Given the description of an element on the screen output the (x, y) to click on. 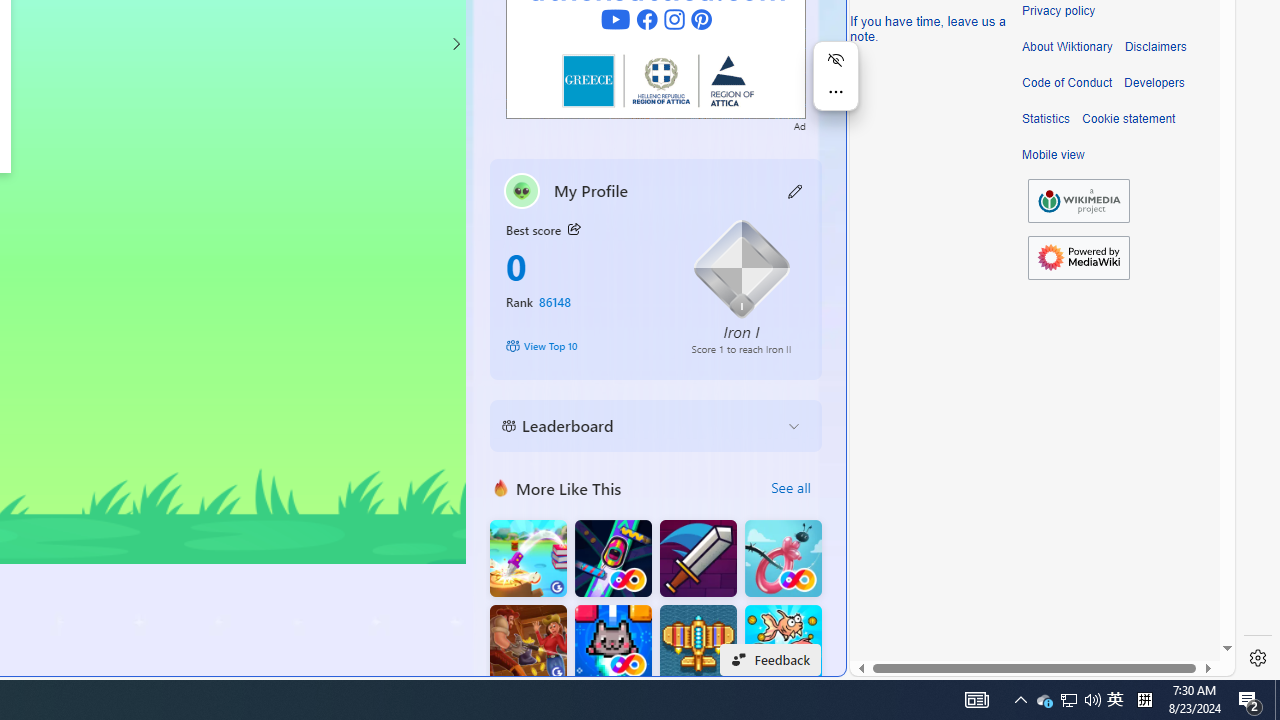
Statistics (1046, 119)
Code of Conduct (1067, 83)
Cookie statement (1128, 119)
Developers (1154, 83)
More Like This (501, 487)
Leaderboard (639, 425)
Developers (1154, 83)
Actions for this site (1129, 306)
Kitten Force FRVR (612, 643)
Statistics (1046, 119)
